Given the description of an element on the screen output the (x, y) to click on. 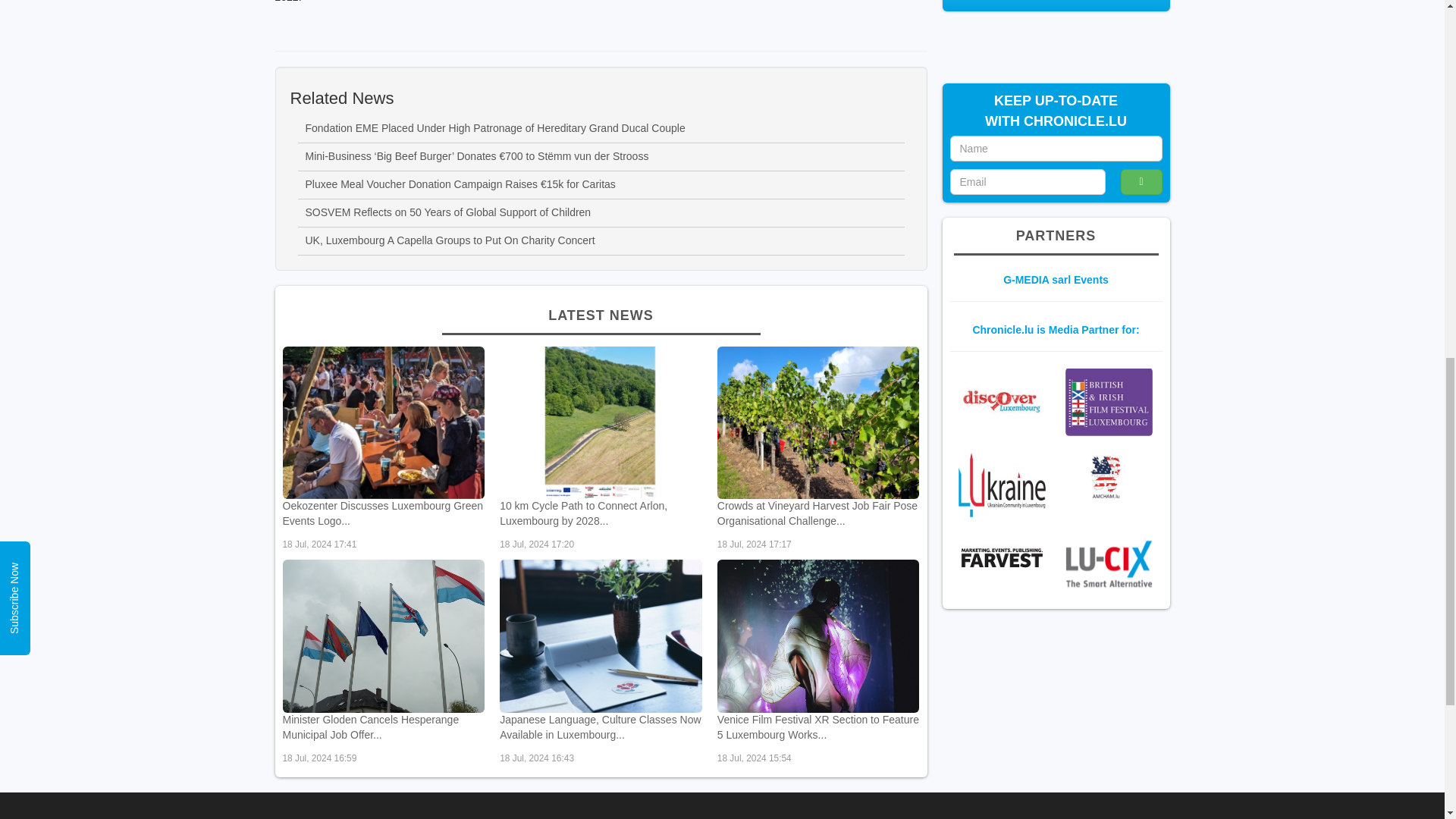
BIFFL (1108, 401)
Farvest (1000, 558)
LU CIX (1108, 563)
LUkraine (1000, 484)
Discover Luxembourg (1000, 400)
AMCHAM (1108, 477)
